Given the description of an element on the screen output the (x, y) to click on. 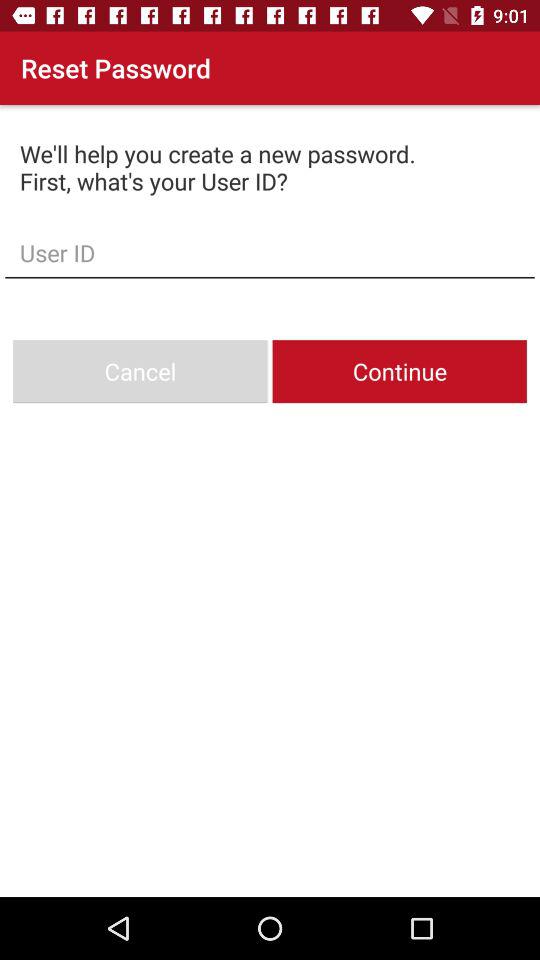
turn on the item to the right of the cancel icon (399, 371)
